Given the description of an element on the screen output the (x, y) to click on. 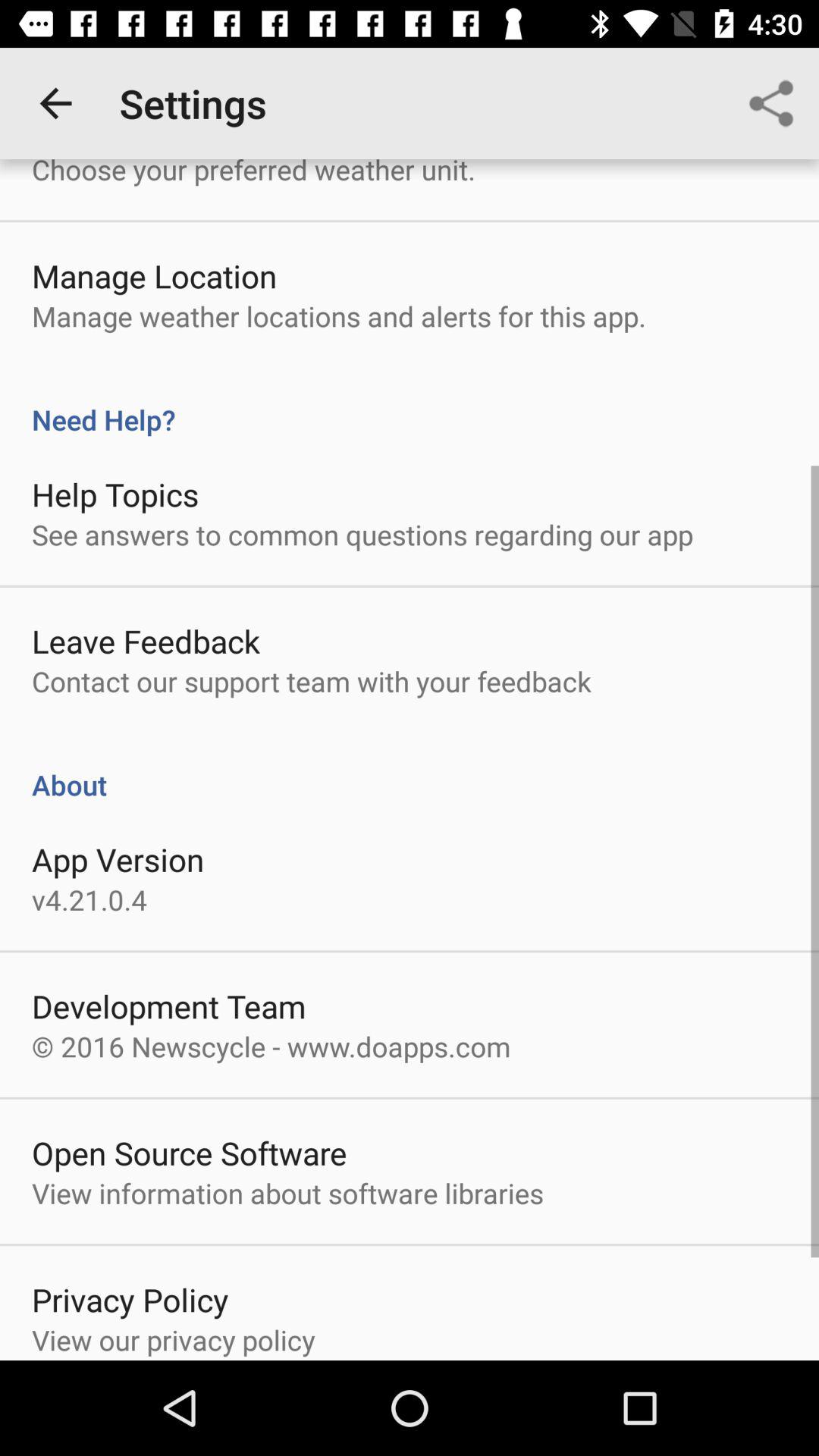
open the 2016 newscycle www icon (270, 1046)
